Given the description of an element on the screen output the (x, y) to click on. 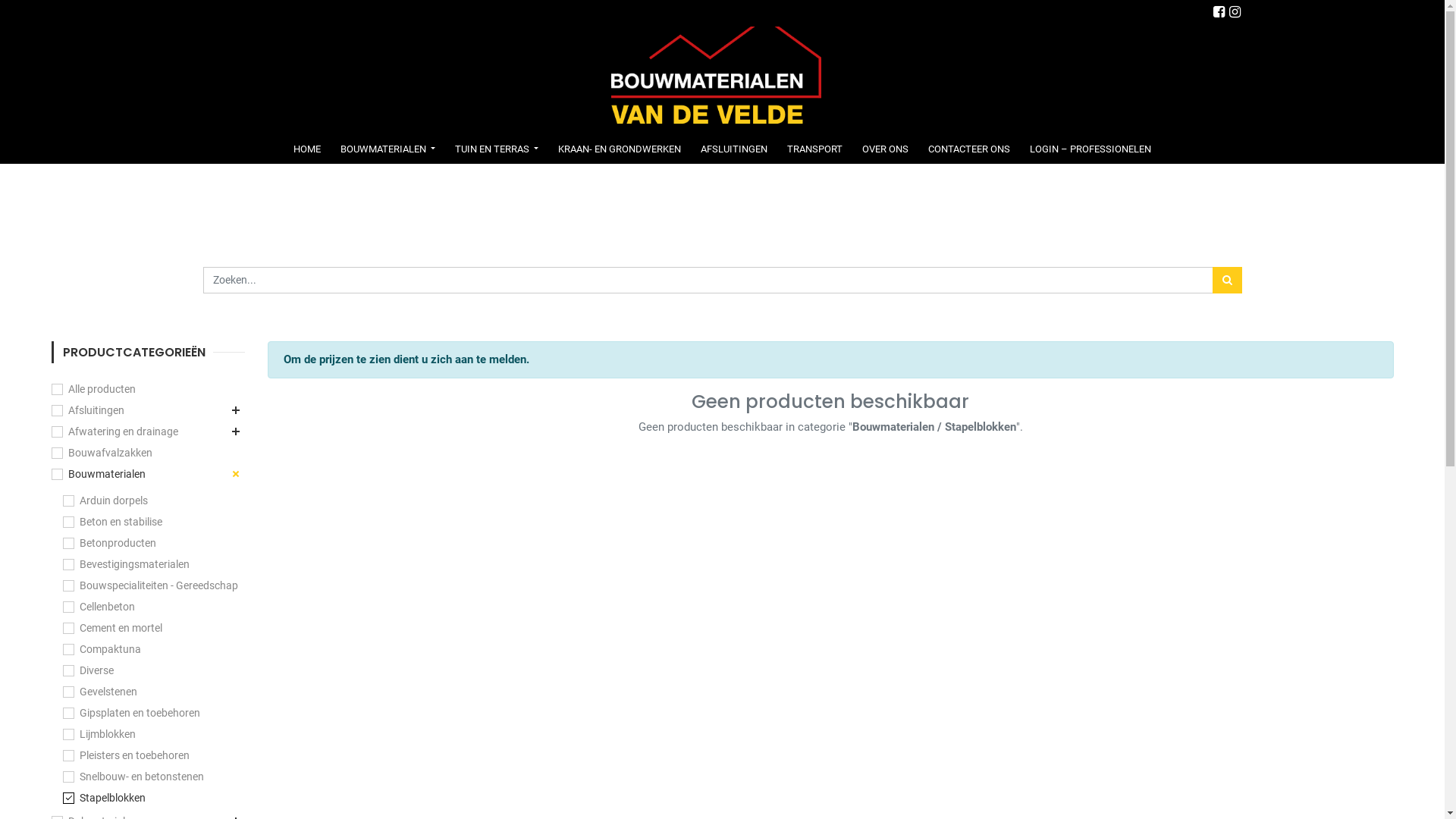
Cellenbeton Element type: text (98, 606)
Bevestigingsmaterialen Element type: text (125, 564)
Arduin dorpels Element type: text (104, 500)
Stapelblokken Element type: text (103, 797)
Diverse Element type: text (87, 670)
Alle producten Element type: text (93, 388)
Gipsplaten en toebehoren Element type: text (130, 712)
Pleisters en toebehoren Element type: text (125, 755)
Betonproducten Element type: text (108, 542)
KRAAN- EN GRONDWERKEN Element type: text (619, 149)
TUIN EN TERRAS Element type: text (496, 149)
TRANSPORT Element type: text (814, 149)
OVER ONS Element type: text (885, 149)
OK Element type: text (1164, 22)
CONTACTEER ONS Element type: text (969, 149)
Zoek Element type: hover (1226, 279)
Unfold Element type: hover (231, 470)
Cement en mortel Element type: text (111, 627)
Bouwmaterialen Van de Velde Element type: hover (716, 78)
Bouwspecialiteiten - Gereedschap Element type: text (149, 585)
Bouwafvalzakken Element type: text (101, 452)
Compaktuna Element type: text (101, 649)
HOME Element type: text (306, 149)
Fold Element type: hover (234, 431)
Beton en stabilise Element type: text (111, 521)
Lijmblokken Element type: text (98, 734)
Gevelstenen Element type: text (99, 691)
BOUWMATERIALEN Element type: text (387, 149)
Bouwmaterialen Element type: text (98, 473)
Afsluitingen Element type: text (87, 410)
Snelbouw- en betonstenen Element type: text (132, 776)
Fold Element type: hover (234, 410)
AFSLUITINGEN Element type: text (733, 149)
Afwatering en drainage Element type: text (114, 431)
